Given the description of an element on the screen output the (x, y) to click on. 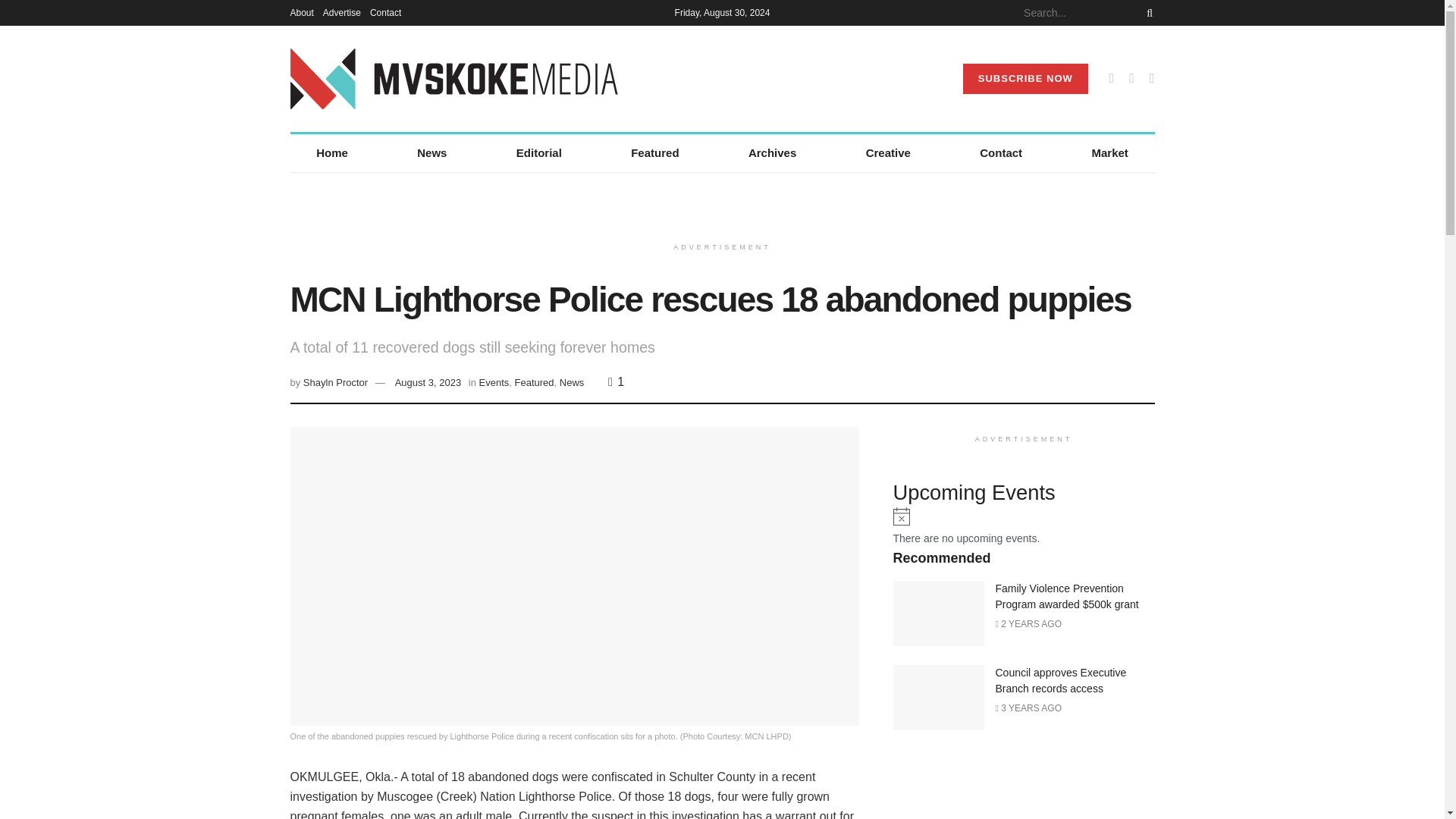
Contact (1000, 152)
About (301, 12)
Market (1109, 152)
Contact (385, 12)
Archives (772, 152)
SUBSCRIBE NOW (1024, 78)
Featured (655, 152)
Editorial (538, 152)
News (432, 152)
Advertise (342, 12)
